Given the description of an element on the screen output the (x, y) to click on. 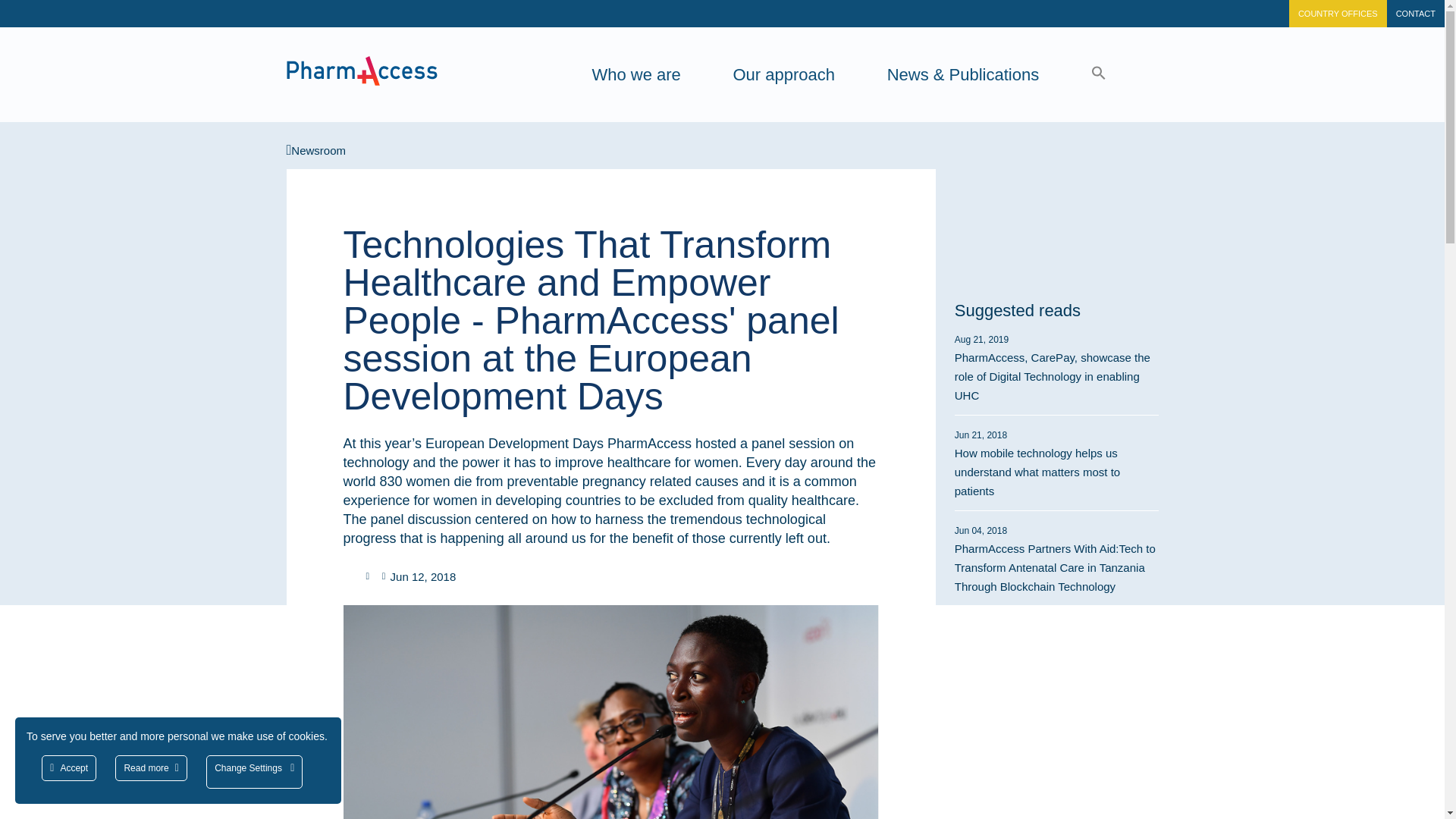
Who we are (635, 74)
COUNTRY OFFICES (1337, 13)
Our approach (783, 74)
Newsroom (316, 149)
